Given the description of an element on the screen output the (x, y) to click on. 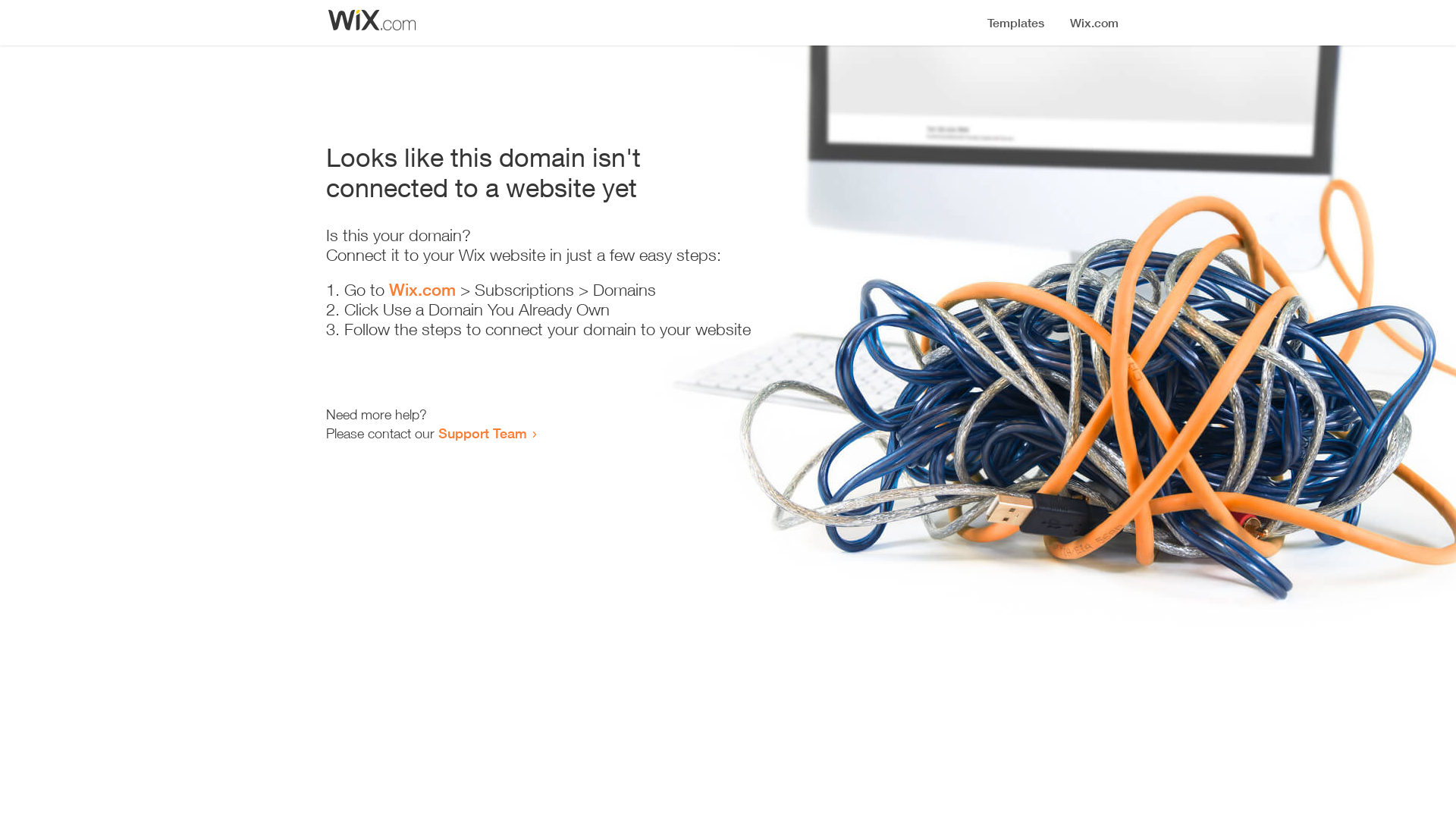
Wix.com Element type: text (422, 289)
Support Team Element type: text (482, 432)
